Given the description of an element on the screen output the (x, y) to click on. 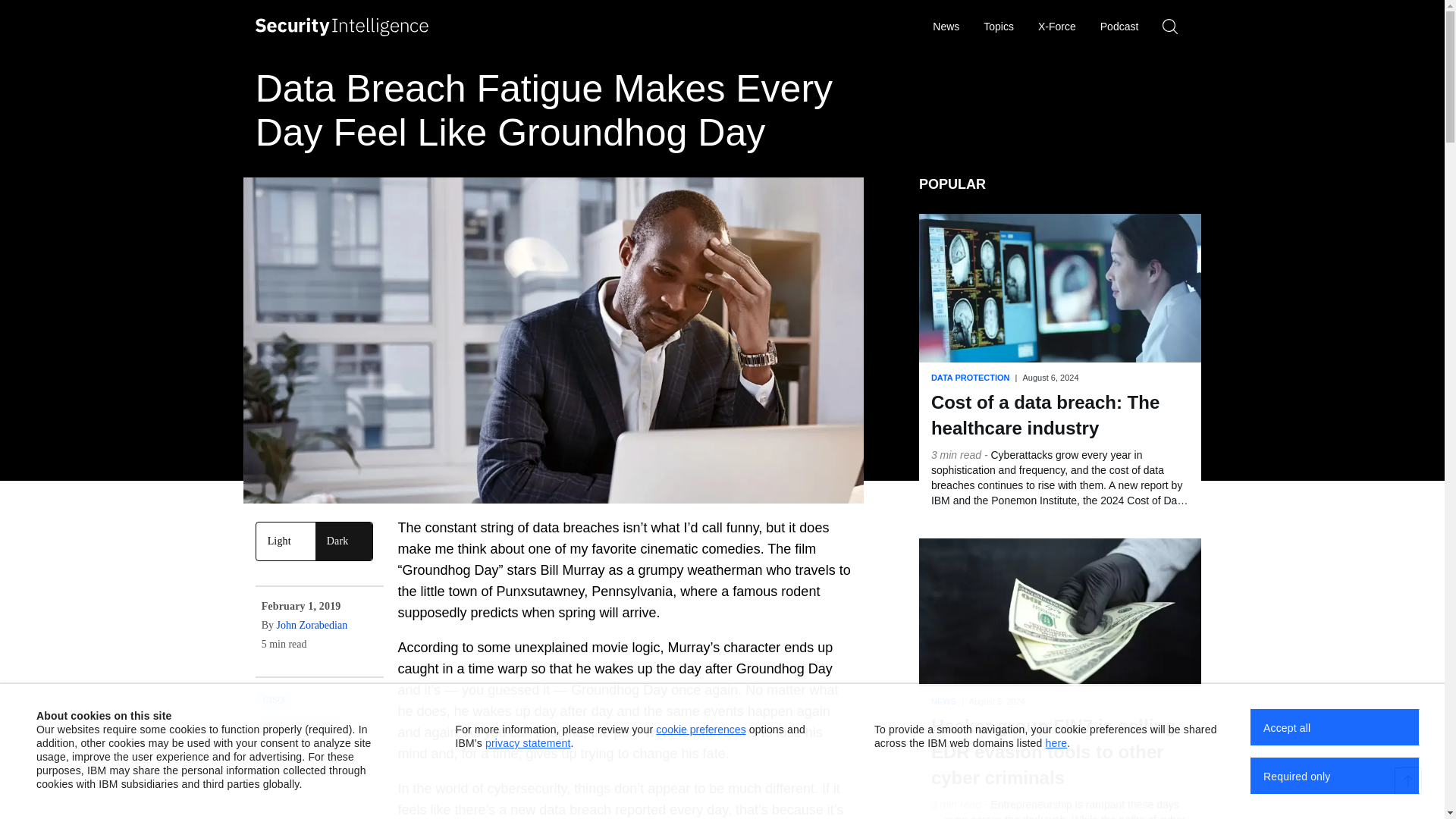
Dark (343, 541)
submit (1112, 27)
reset (1177, 27)
Podcast (1119, 26)
News (945, 26)
Topics (998, 26)
Light (285, 541)
Security Intelligence (341, 27)
X-Force (1056, 26)
